Given the description of an element on the screen output the (x, y) to click on. 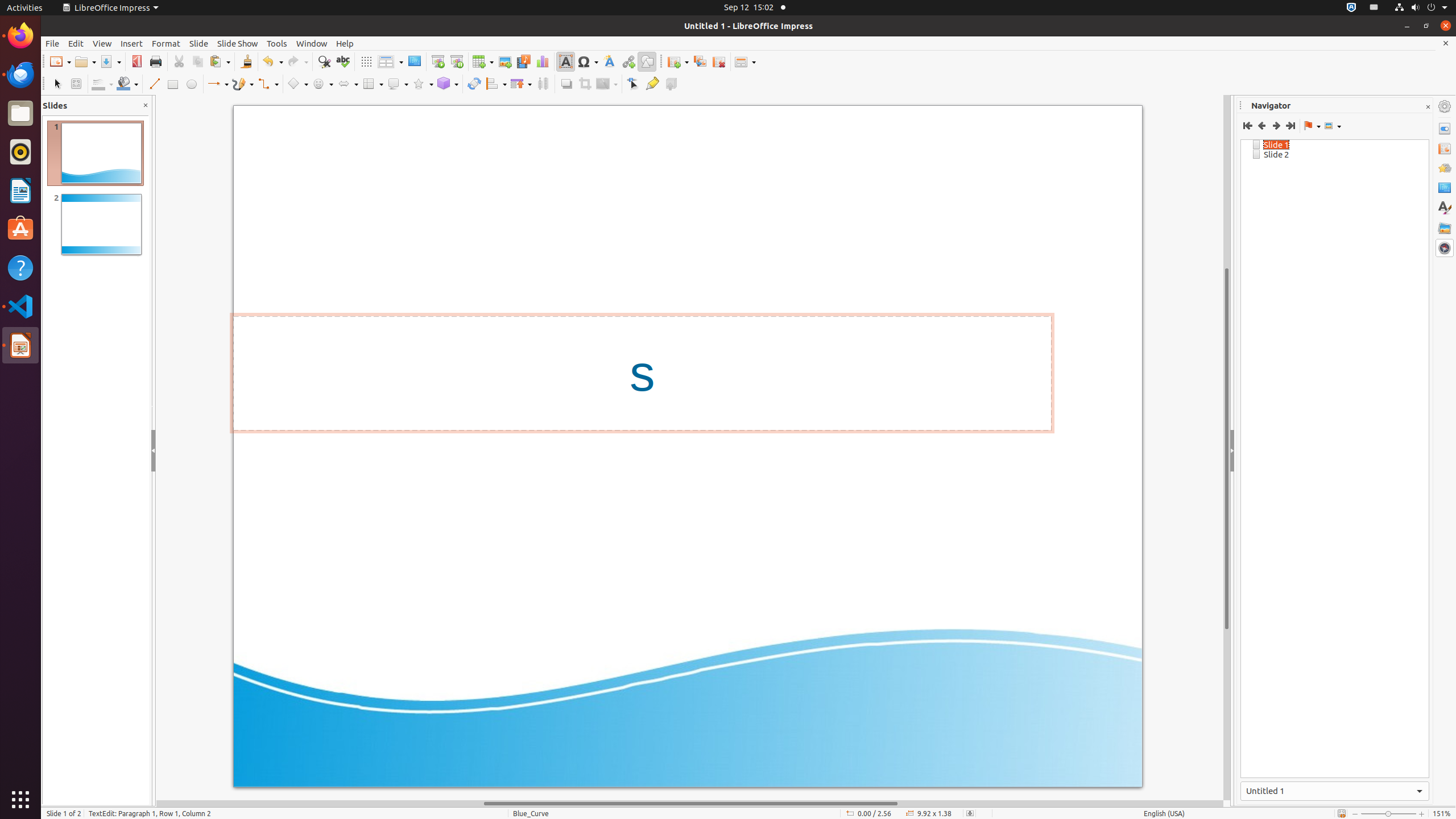
Ellipse Element type: push-button (191, 83)
Previous Slide Element type: push-button (1261, 125)
Navigator Element type: radio-button (1444, 247)
Close Pane Element type: push-button (145, 105)
Vertical scroll bar Element type: scroll-bar (1226, 447)
